Given the description of an element on the screen output the (x, y) to click on. 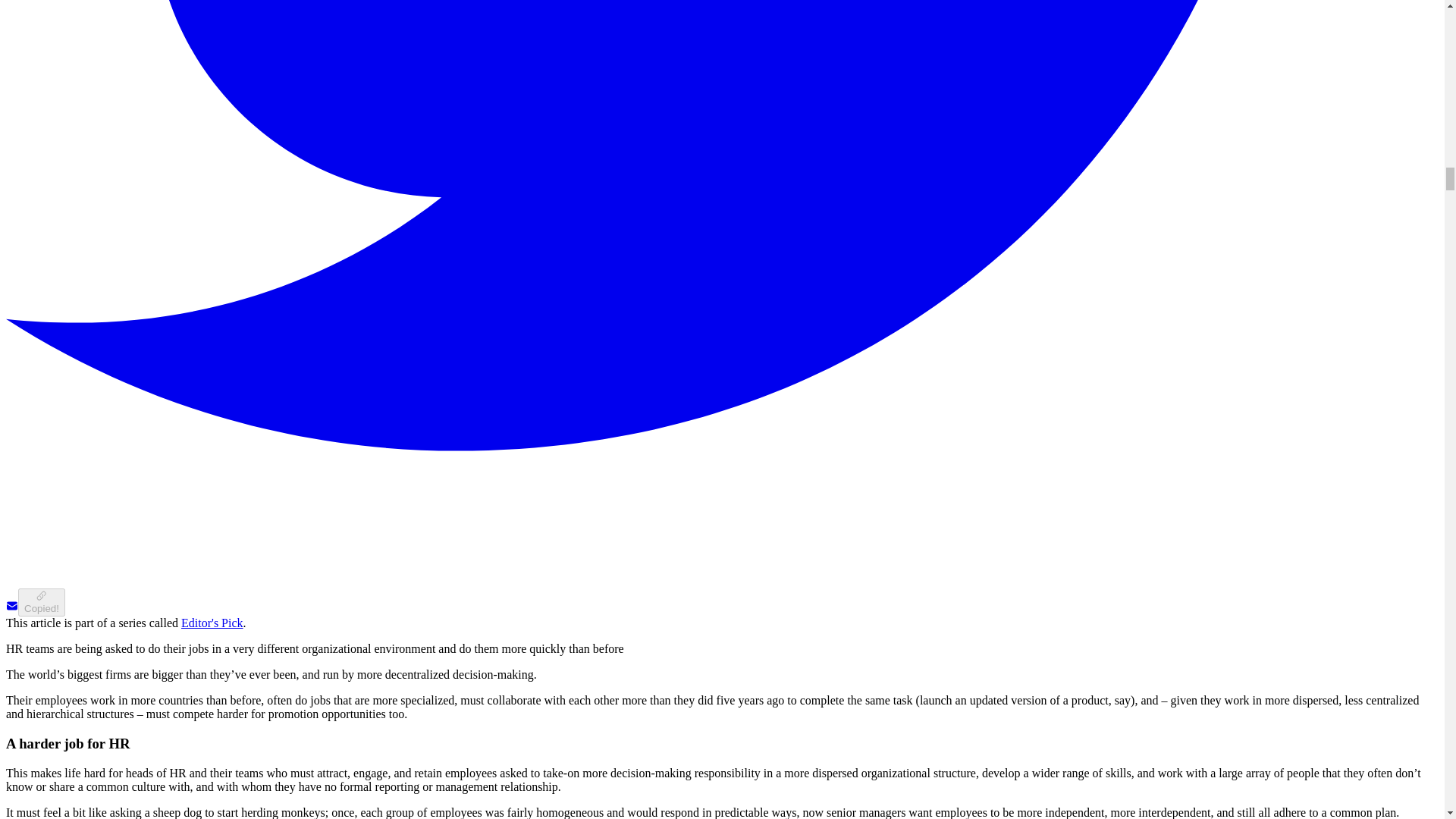
Copied! (41, 602)
Editor's Pick (211, 622)
